Given the description of an element on the screen output the (x, y) to click on. 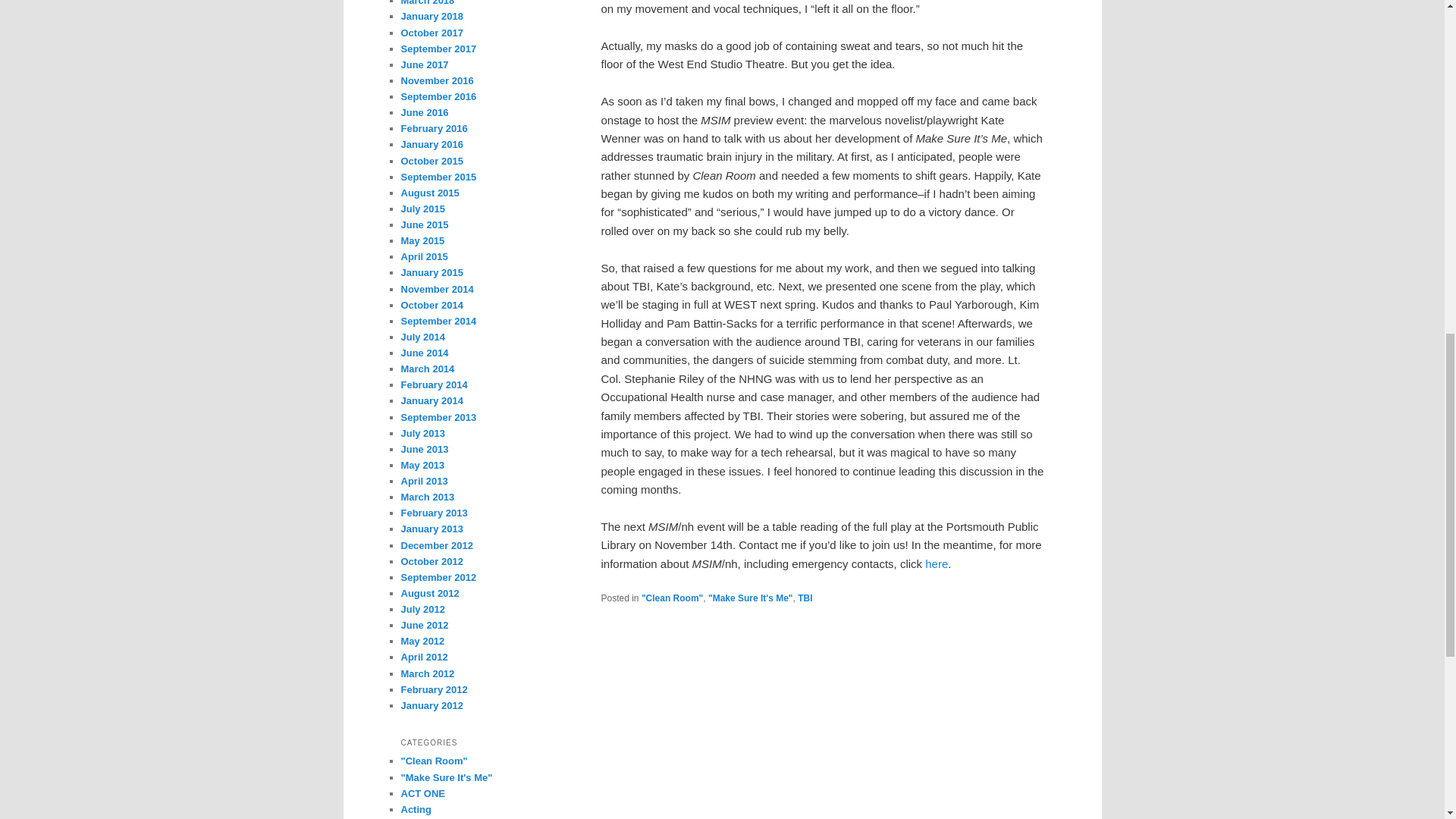
here (935, 563)
"Clean Room" (672, 597)
TBI (804, 597)
"Make Sure It's Me" (750, 597)
